Given the description of an element on the screen output the (x, y) to click on. 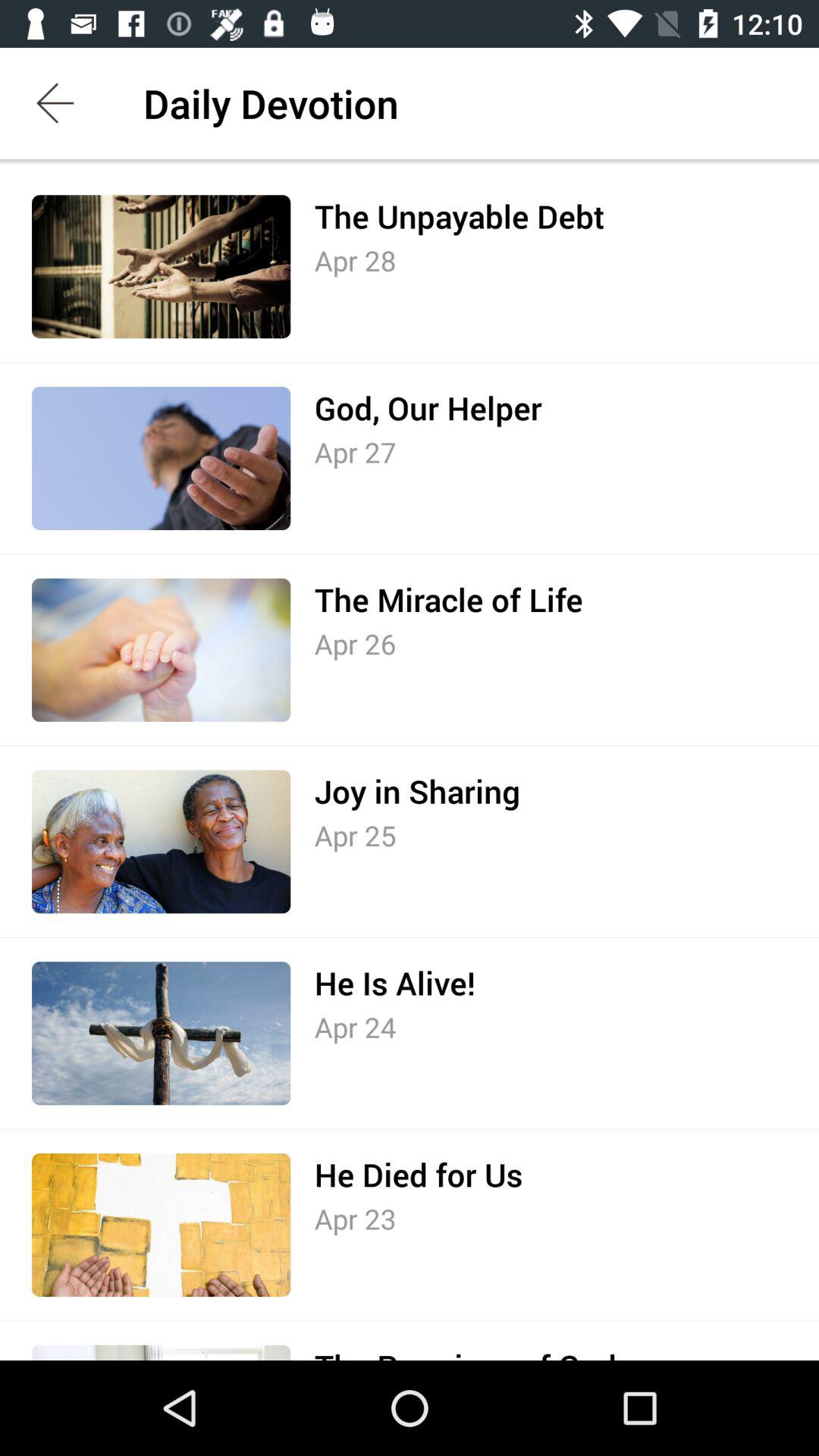
click the icon next to the daily devotion (55, 103)
